Given the description of an element on the screen output the (x, y) to click on. 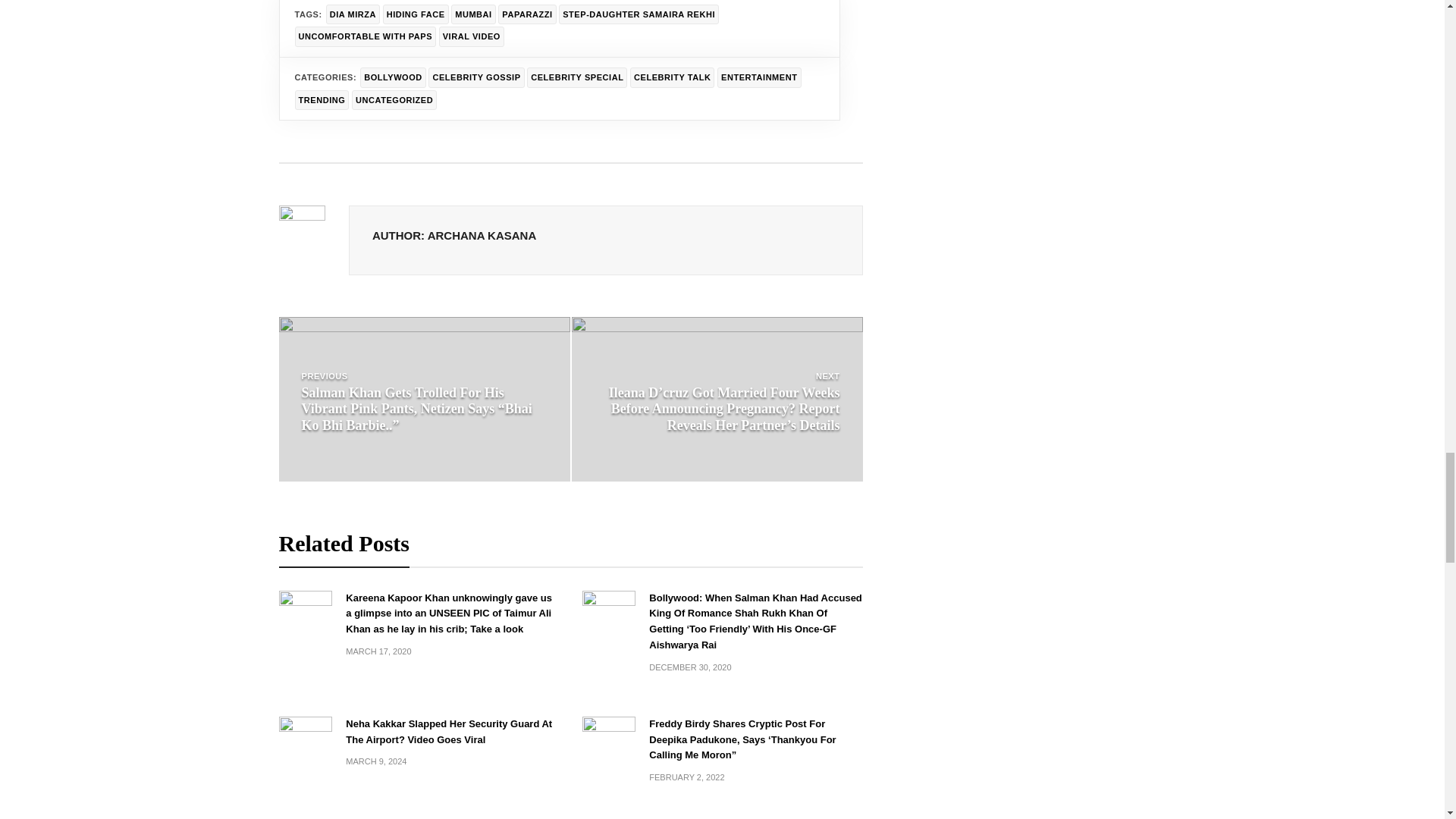
VIRAL VIDEO (471, 36)
DIA MIRZA (353, 14)
PAPARAZZI (526, 14)
STEP-DAUGHTER SAMAIRA REKHI (639, 14)
MUMBAI (473, 14)
UNCOMFORTABLE WITH PAPS (364, 36)
HIDING FACE (415, 14)
